Given the description of an element on the screen output the (x, y) to click on. 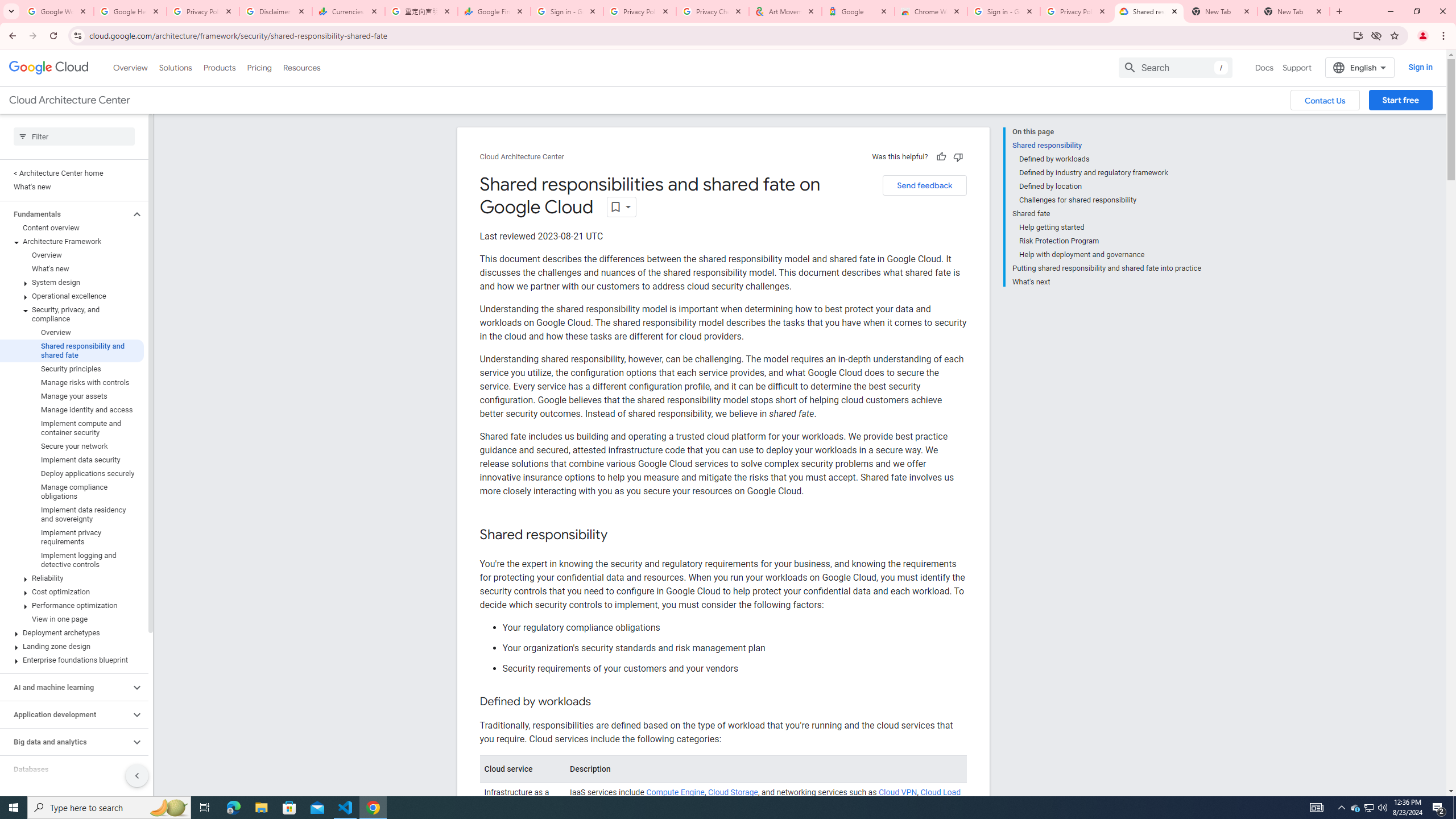
Help with deployment and governance (1110, 254)
Google (857, 11)
Manage risks with controls (72, 382)
Send feedback (924, 185)
Implement privacy requirements (72, 536)
System design (72, 282)
Hide side navigation (136, 775)
Security principles (72, 368)
Implement compute and container security (72, 427)
View in one page (72, 619)
Privacy Checkup (712, 11)
Not helpful (957, 156)
